Given the description of an element on the screen output the (x, y) to click on. 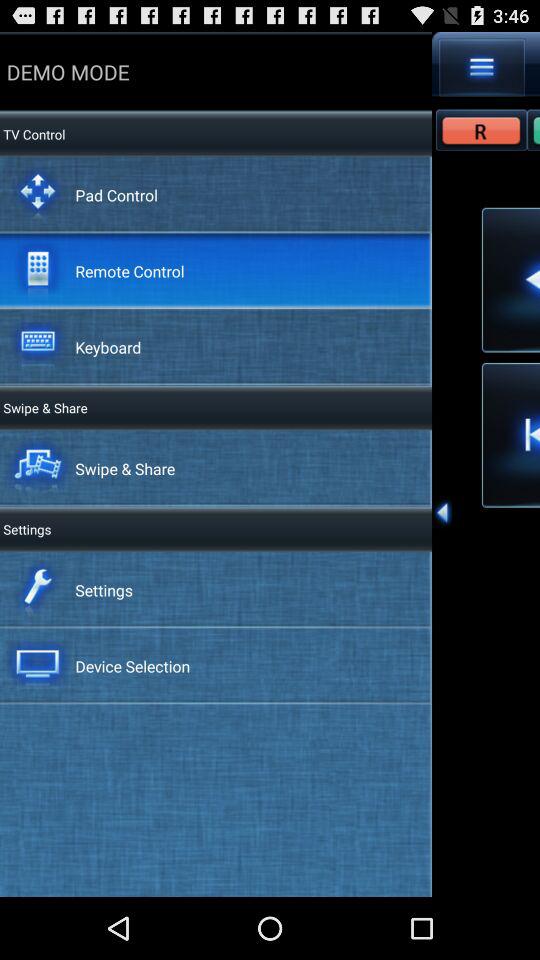
select the app to the right of demo mode app (481, 67)
